Given the description of an element on the screen output the (x, y) to click on. 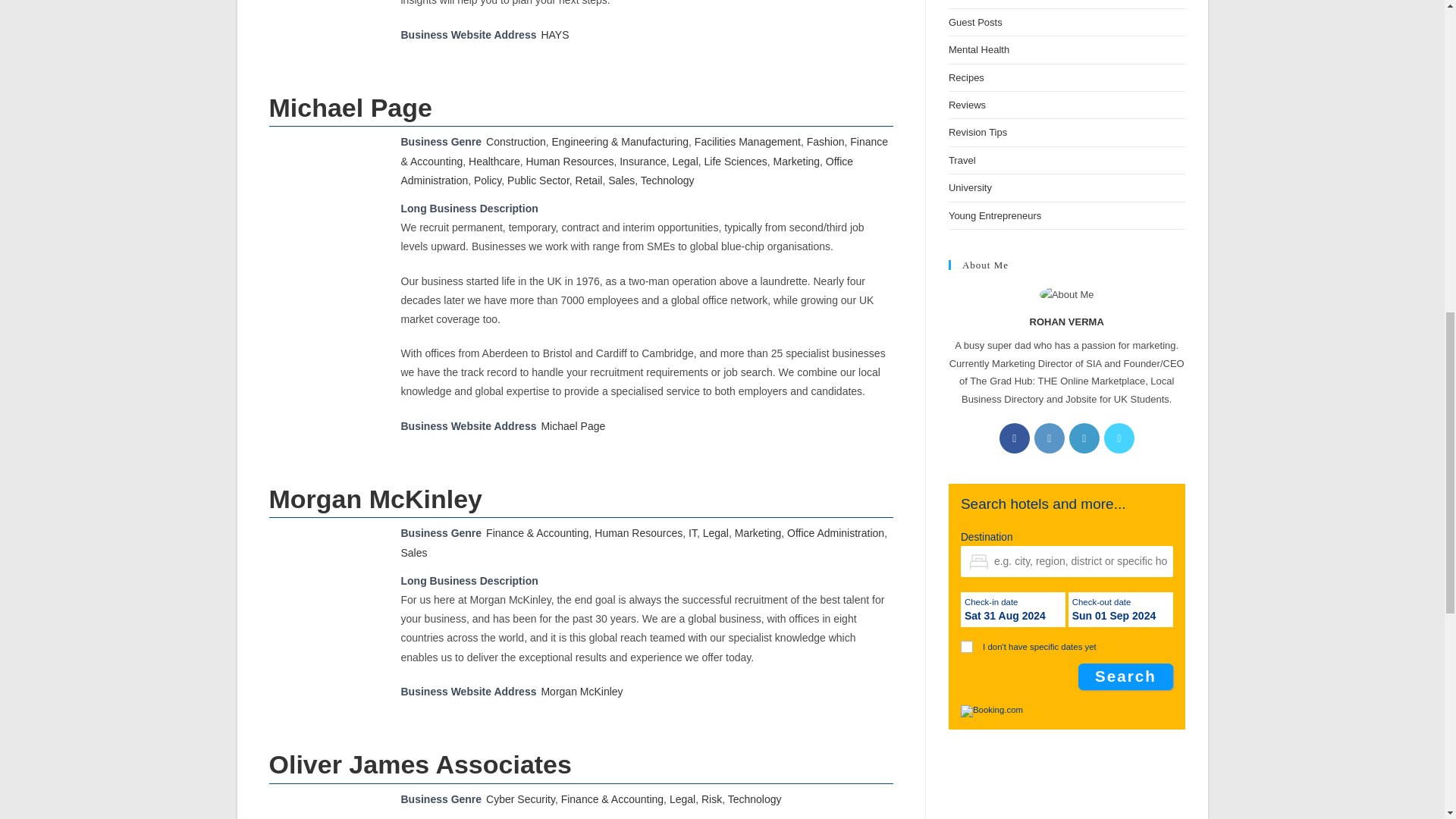
e.g. city, region, district or specific hotel (1066, 561)
on (966, 646)
Morgan McKinley (581, 691)
Michael Page (572, 426)
HAYS (554, 34)
Search (1125, 676)
